Given the description of an element on the screen output the (x, y) to click on. 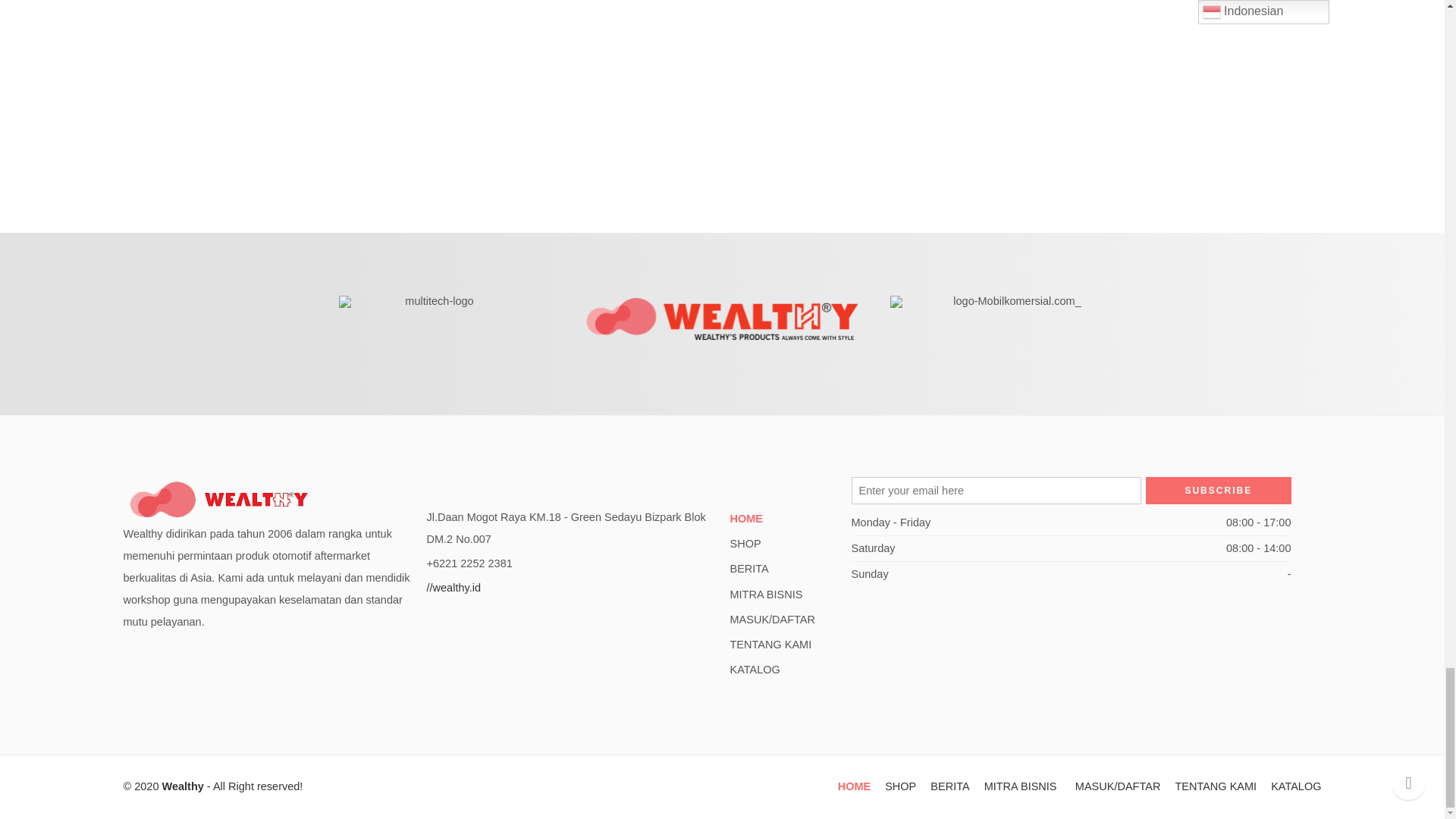
SUBSCRIBE (1217, 490)
